Given the description of an element on the screen output the (x, y) to click on. 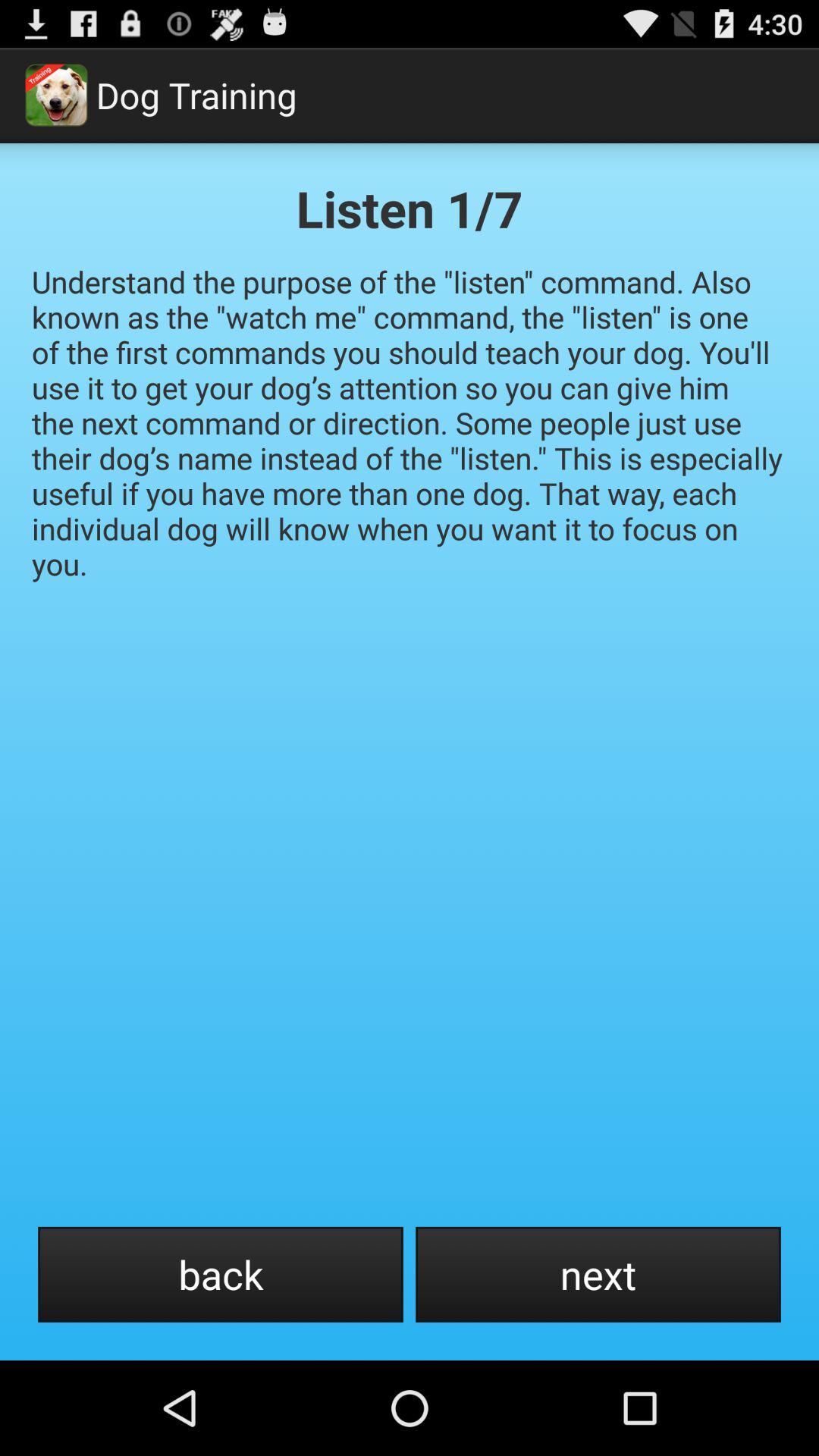
swipe to the next (597, 1274)
